Given the description of an element on the screen output the (x, y) to click on. 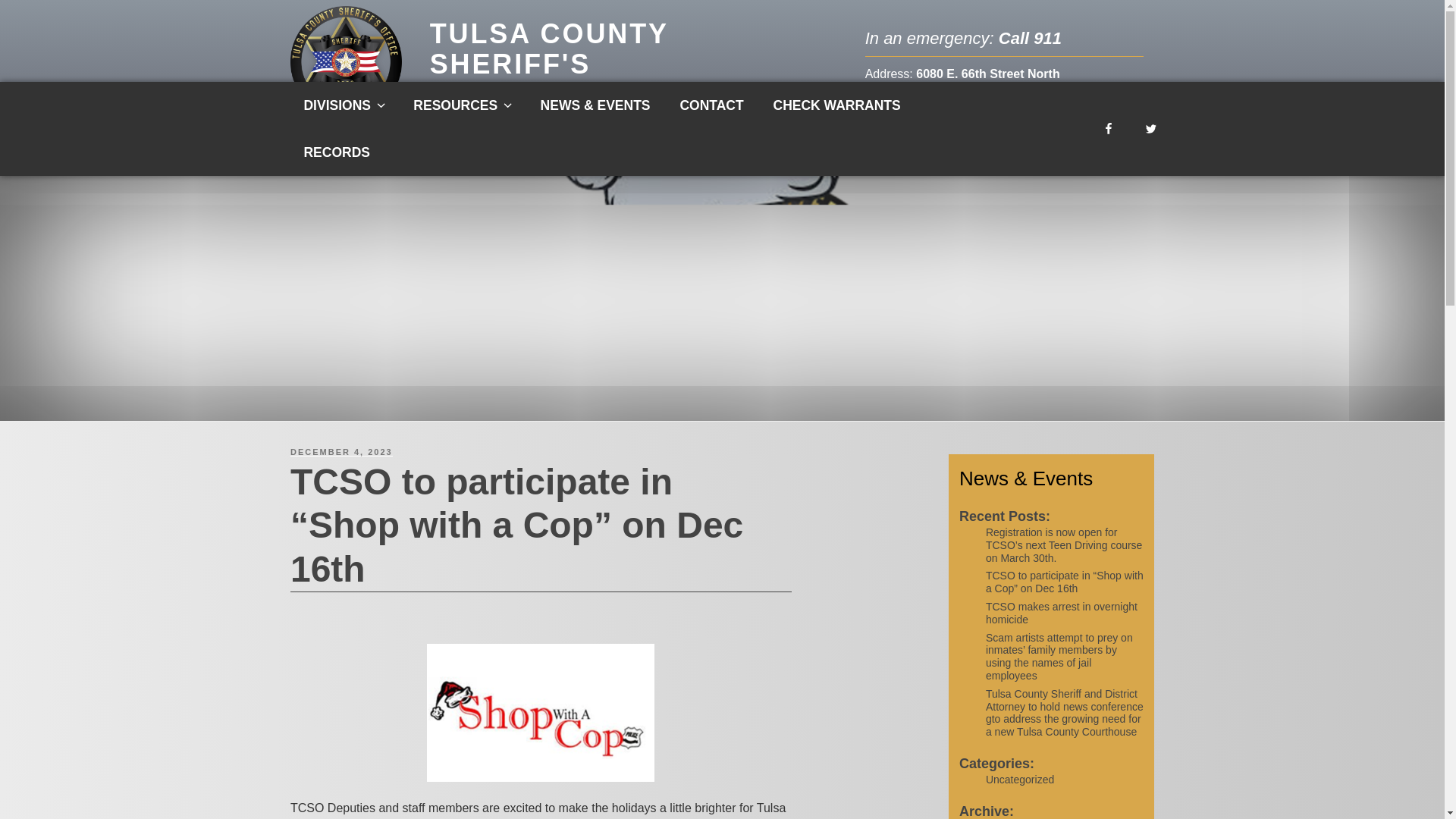
DIVISIONS (343, 104)
RESOURCES (462, 104)
TULSA COUNTY SHERIFF'S OFFICE (548, 63)
